Given the description of an element on the screen output the (x, y) to click on. 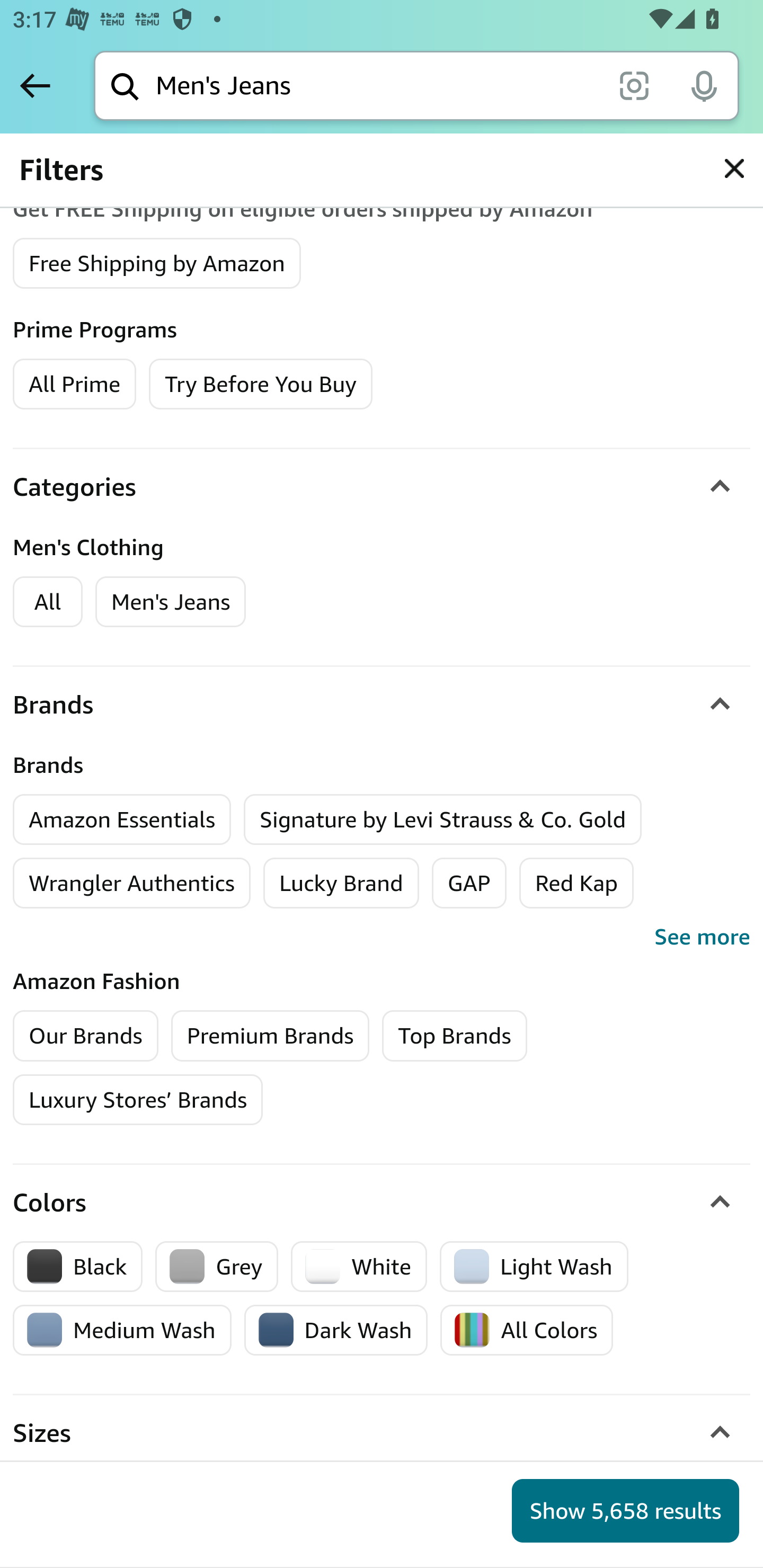
Back (35, 85)
scan it (633, 85)
Free Shipping by Amazon (157, 262)
All Prime (74, 383)
Try Before You Buy (260, 383)
Categories (381, 486)
All (47, 601)
Men's Jeans (170, 601)
Brands (381, 704)
Amazon Essentials (121, 819)
Signature by Levi Strauss & Co. Gold (442, 819)
Wrangler Authentics (131, 882)
Lucky Brand (340, 882)
GAP (469, 882)
Red Kap (576, 882)
See more, Brands See more (381, 936)
Our Brands (85, 1035)
Premium Brands (270, 1035)
Top Brands (454, 1035)
Luxury Stores’ Brands (137, 1098)
Colors (381, 1202)
Black Black Black Black (77, 1266)
Grey Grey Grey Grey (217, 1266)
White White White White (358, 1266)
Light Wash Light Wash Light Wash Light Wash (533, 1266)
Medium Wash Medium Wash Medium Wash Medium Wash (121, 1330)
Dark Wash Dark Wash Dark Wash Dark Wash (335, 1330)
All Colors All Colors All Colors All Colors (526, 1330)
Sizes (381, 1434)
Show 5,658 results (625, 1510)
